Given the description of an element on the screen output the (x, y) to click on. 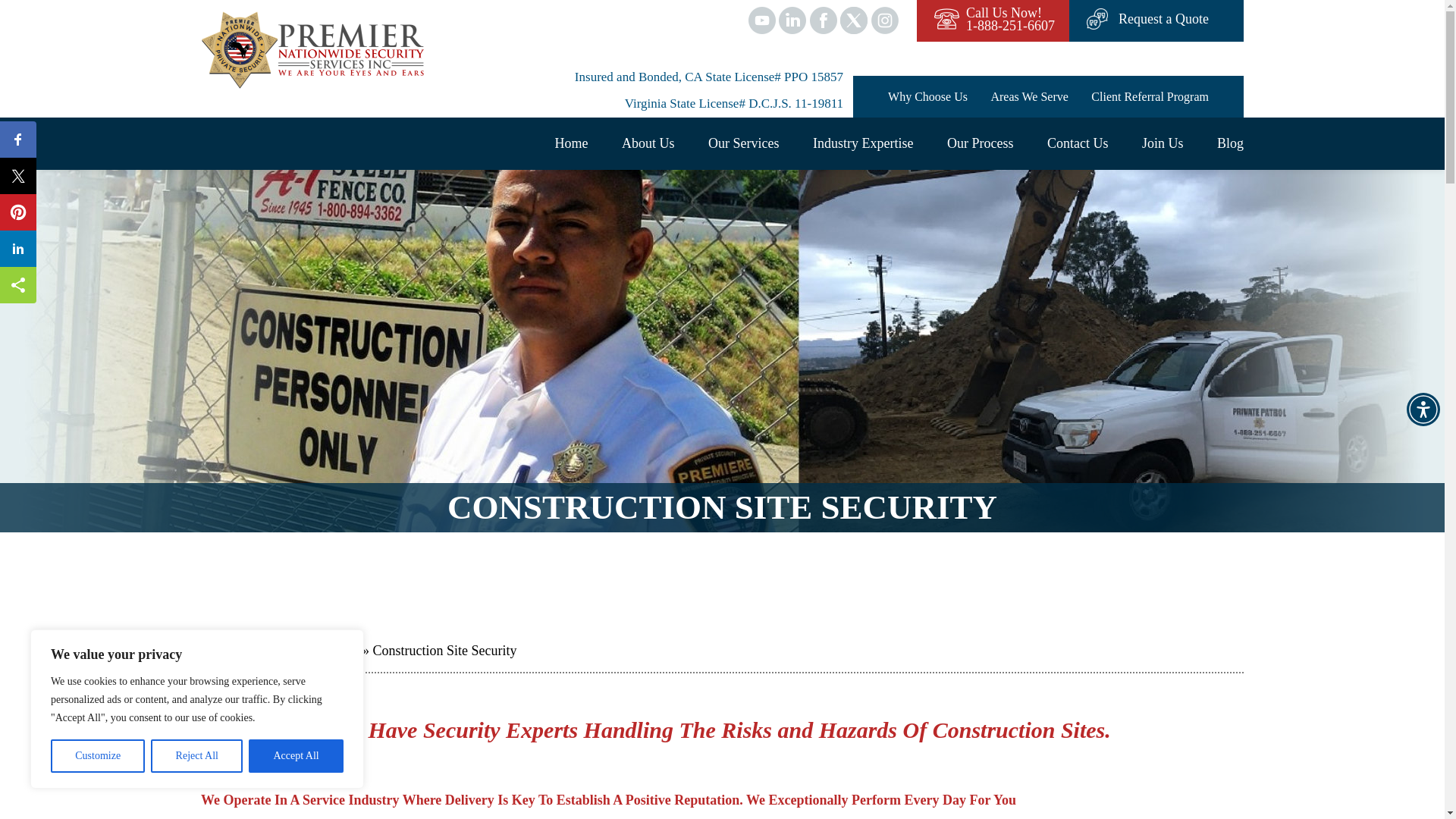
About Us (648, 143)
Why Choose Us (928, 96)
Reject All (197, 756)
Customize (97, 756)
Client Referral Program (1149, 96)
Areas We Serve (1010, 18)
Accessibility Menu (1028, 96)
Accept All (1422, 409)
Request a Quote (295, 756)
